Given the description of an element on the screen output the (x, y) to click on. 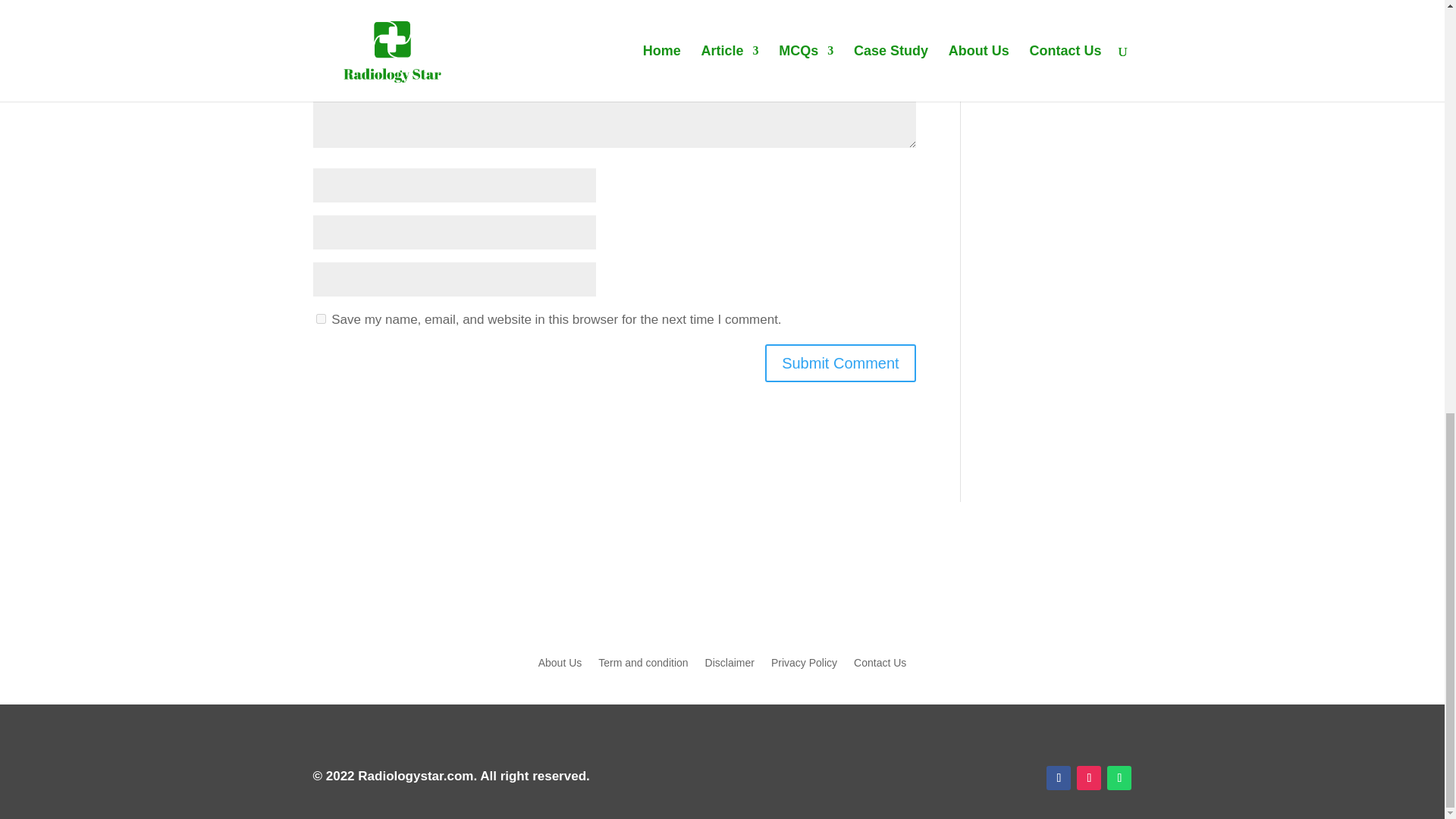
Privacy Policy (804, 665)
Disclaimer (729, 665)
Follow on Instagram (1088, 777)
Follow on WhatsApp (1118, 777)
Term and condition (642, 665)
About Us (560, 665)
Submit Comment (840, 362)
Submit Comment (840, 362)
yes (319, 318)
Follow on Facebook (1058, 777)
